Given the description of an element on the screen output the (x, y) to click on. 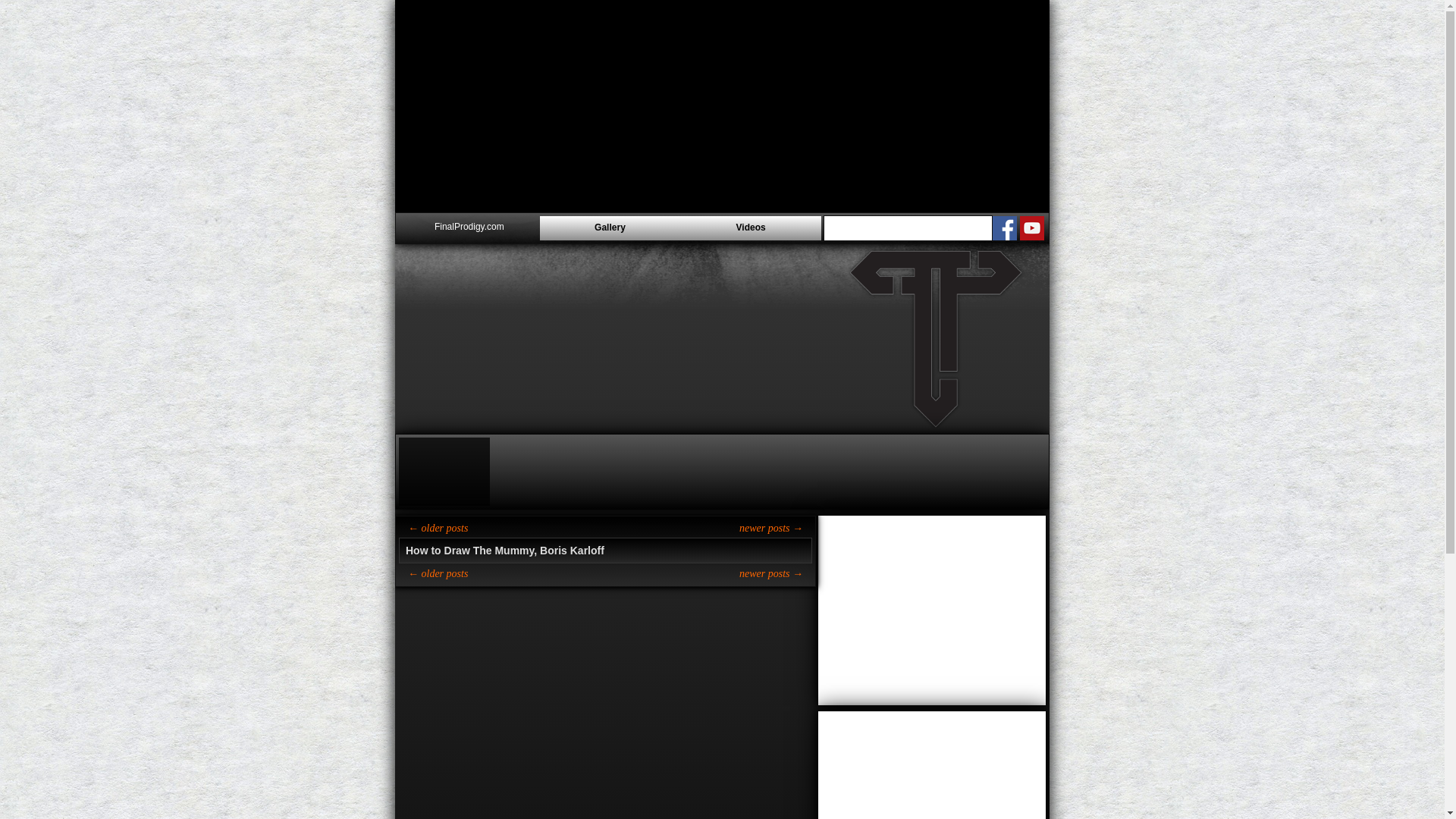
Gallery (610, 228)
Read How to Draw The Mummy, Boris Karloff (604, 550)
How to Draw The Mummy, Boris Karloff (604, 550)
FinalProdigy.com (469, 228)
Videos (750, 228)
